Given the description of an element on the screen output the (x, y) to click on. 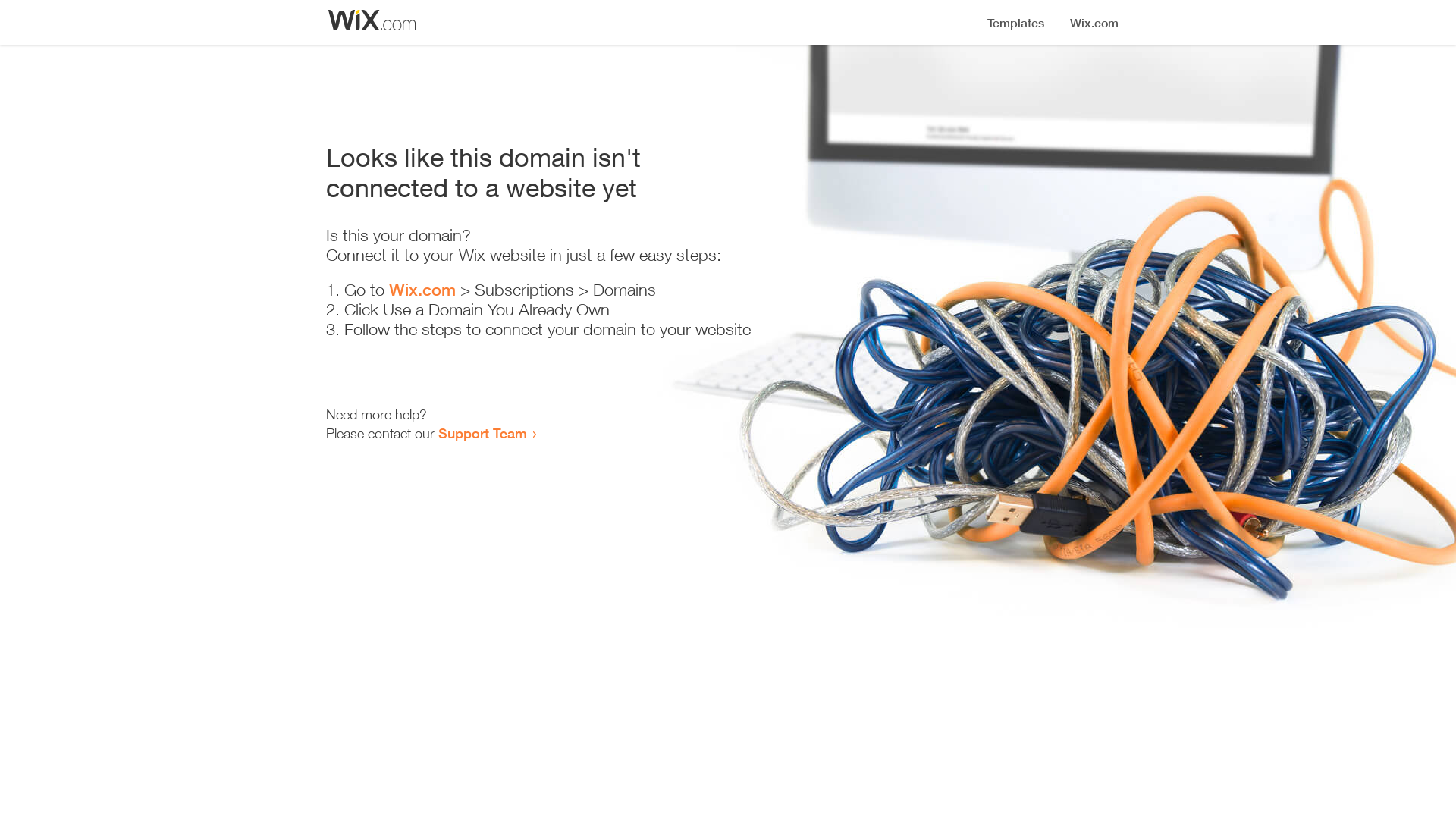
Wix.com Element type: text (422, 289)
Support Team Element type: text (482, 432)
